Given the description of an element on the screen output the (x, y) to click on. 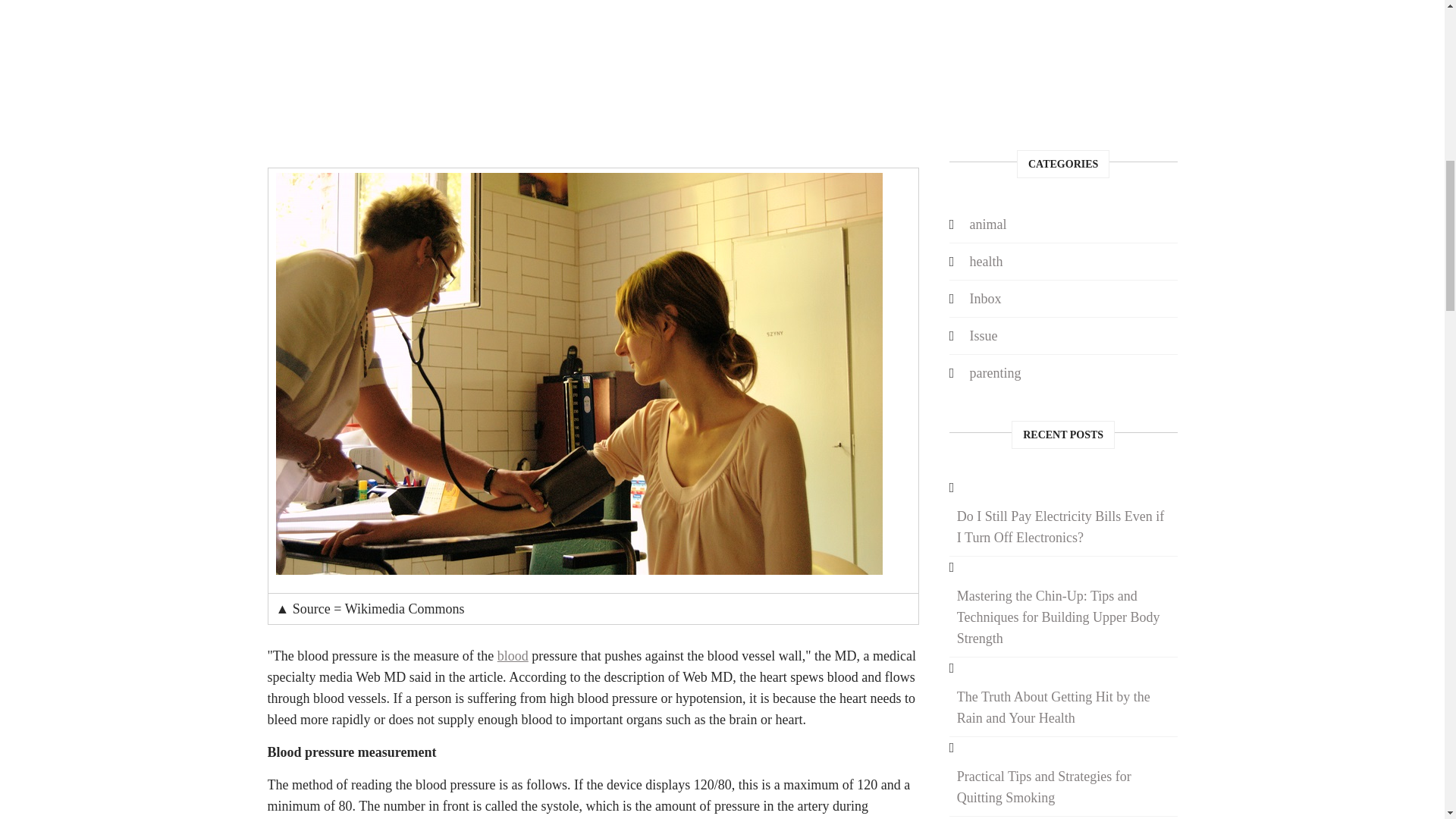
Advertisement (592, 76)
Practical Tips and Strategies for Quitting Smoking (1063, 787)
Issue (982, 335)
parenting (993, 372)
blood (512, 655)
The Truth About Getting Hit by the Rain and Your Health (1063, 707)
health (985, 261)
Inbox (984, 298)
Advertisement (1063, 60)
animal (986, 224)
blood (512, 655)
